Given the description of an element on the screen output the (x, y) to click on. 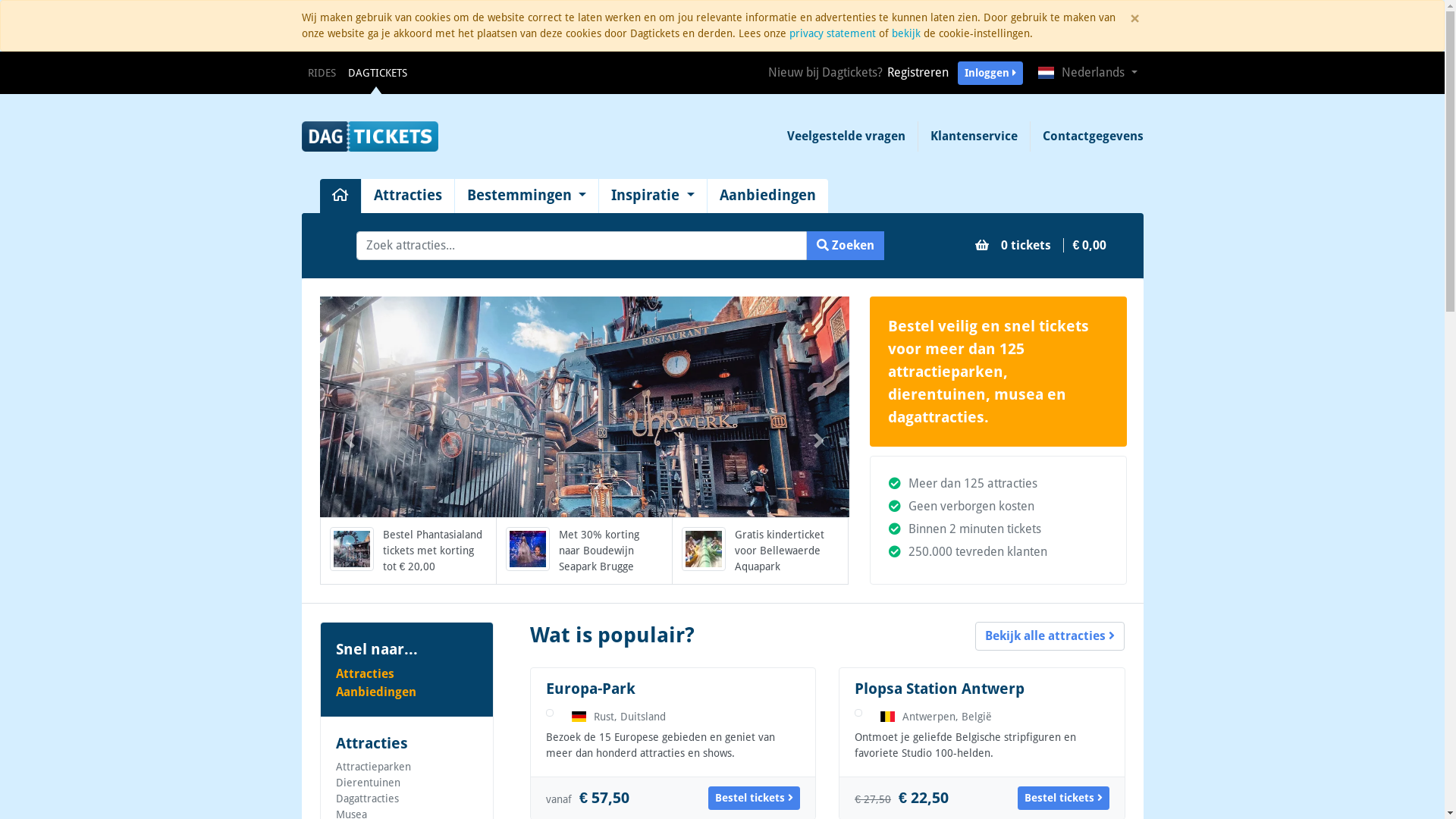
DAGTICKETS Element type: text (376, 73)
Attractieparken Element type: text (372, 766)
Bestel tickets Element type: text (754, 797)
privacy statement Element type: text (831, 33)
Aanbiedingen Element type: text (406, 692)
Klantenservice Element type: text (973, 136)
RIDES
(CURRENT) Element type: text (321, 73)
Previous Element type: text (348, 440)
Next Element type: text (818, 440)
Plopsa Station Antwerp Element type: text (939, 688)
Nederlands Element type: text (1087, 72)
Registreren Element type: text (917, 72)
Veelgestelde vragen Element type: text (846, 136)
bekijk Element type: text (905, 33)
Bestel tickets Element type: text (1063, 797)
Inspiratie Element type: text (652, 195)
Dagattracties Element type: text (366, 798)
Europa-Park Element type: text (590, 688)
Dierentuinen Element type: text (367, 782)
Attracties Element type: text (406, 674)
Attracties Element type: text (406, 195)
Contactgegevens Element type: text (1085, 136)
Inloggen Element type: text (989, 72)
Zoeken Element type: text (845, 245)
Aanbiedingen Element type: text (767, 195)
Bekijk alle attracties Element type: text (1049, 635)
Rust, Duitsland Element type: text (618, 716)
Bestemmingen Element type: text (527, 195)
